Given the description of an element on the screen output the (x, y) to click on. 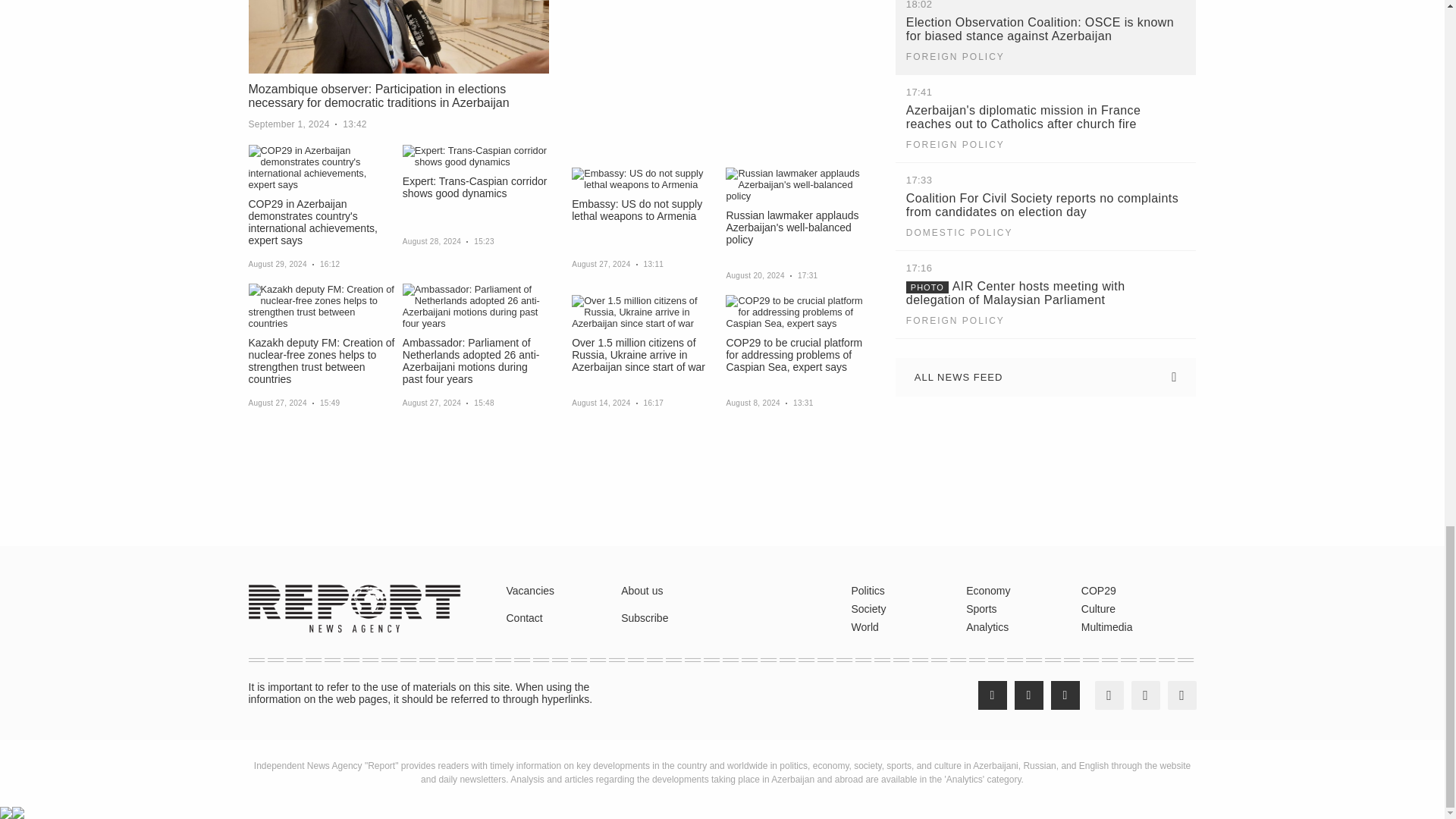
undefined (33, 511)
Expert: Trans-Caspian corridor shows good dynamics (475, 155)
